Given the description of an element on the screen output the (x, y) to click on. 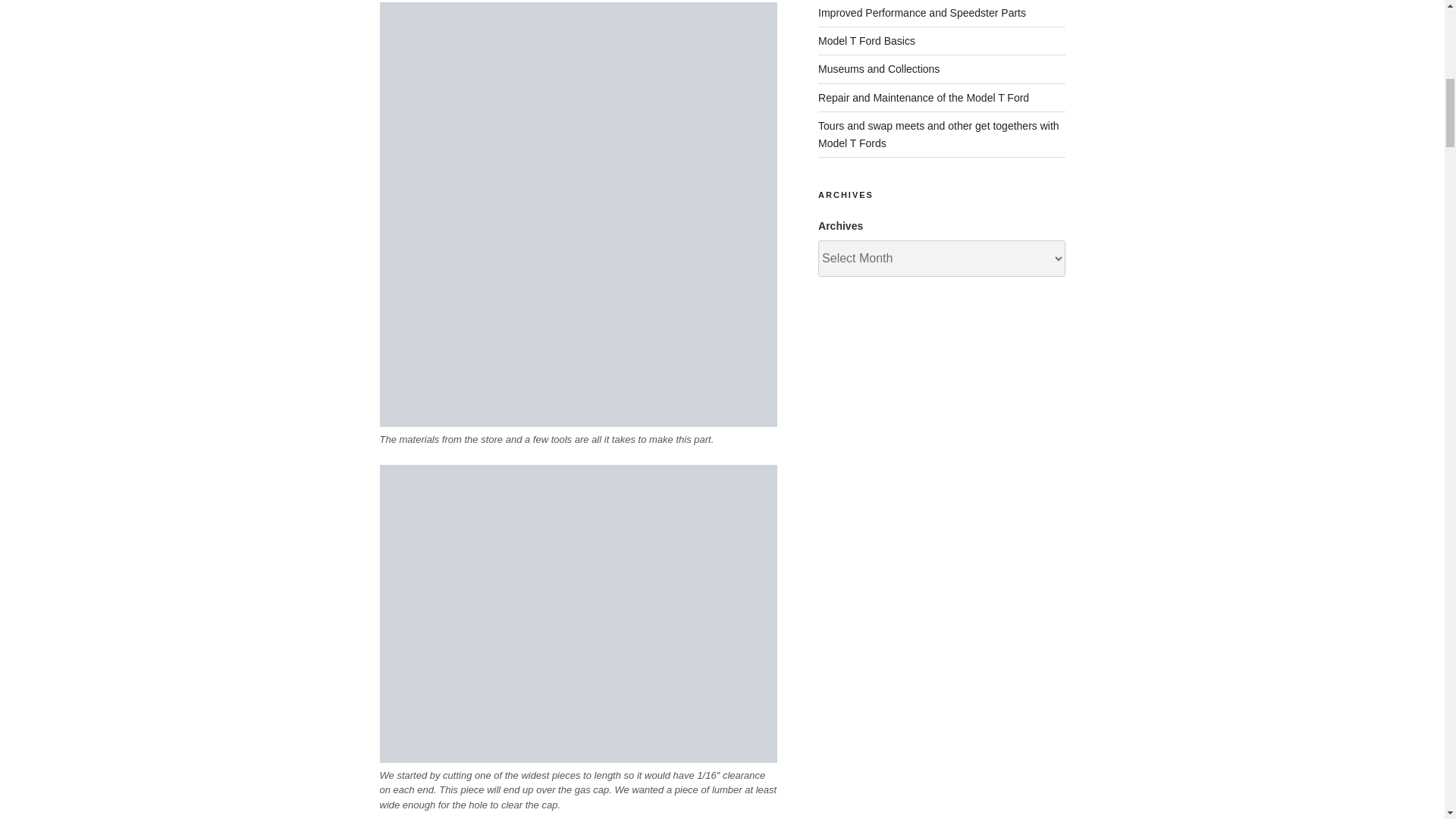
Improved Performance and Speedster Parts (922, 12)
Museums and Collections (878, 69)
Repair and Maintenance of the Model T Ford (923, 97)
Model T Ford Basics (866, 40)
